Given the description of an element on the screen output the (x, y) to click on. 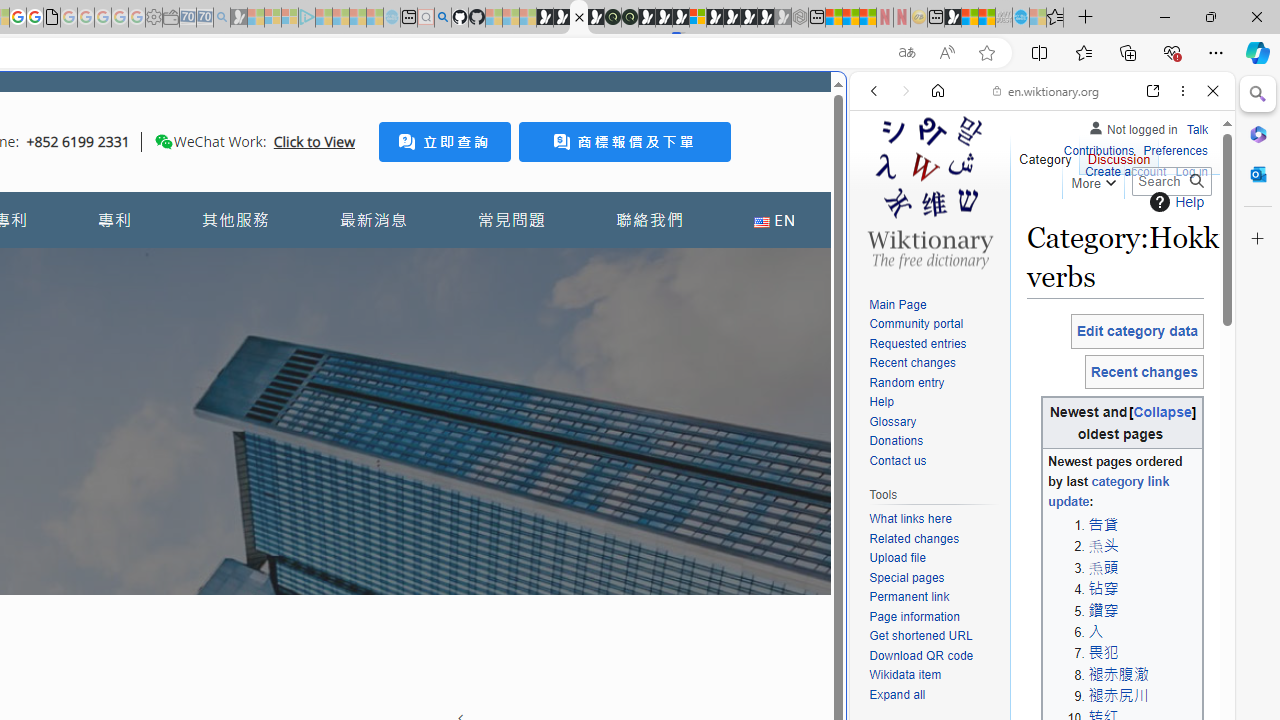
Related changes (914, 538)
Permanent link (934, 597)
